Given the description of an element on the screen output the (x, y) to click on. 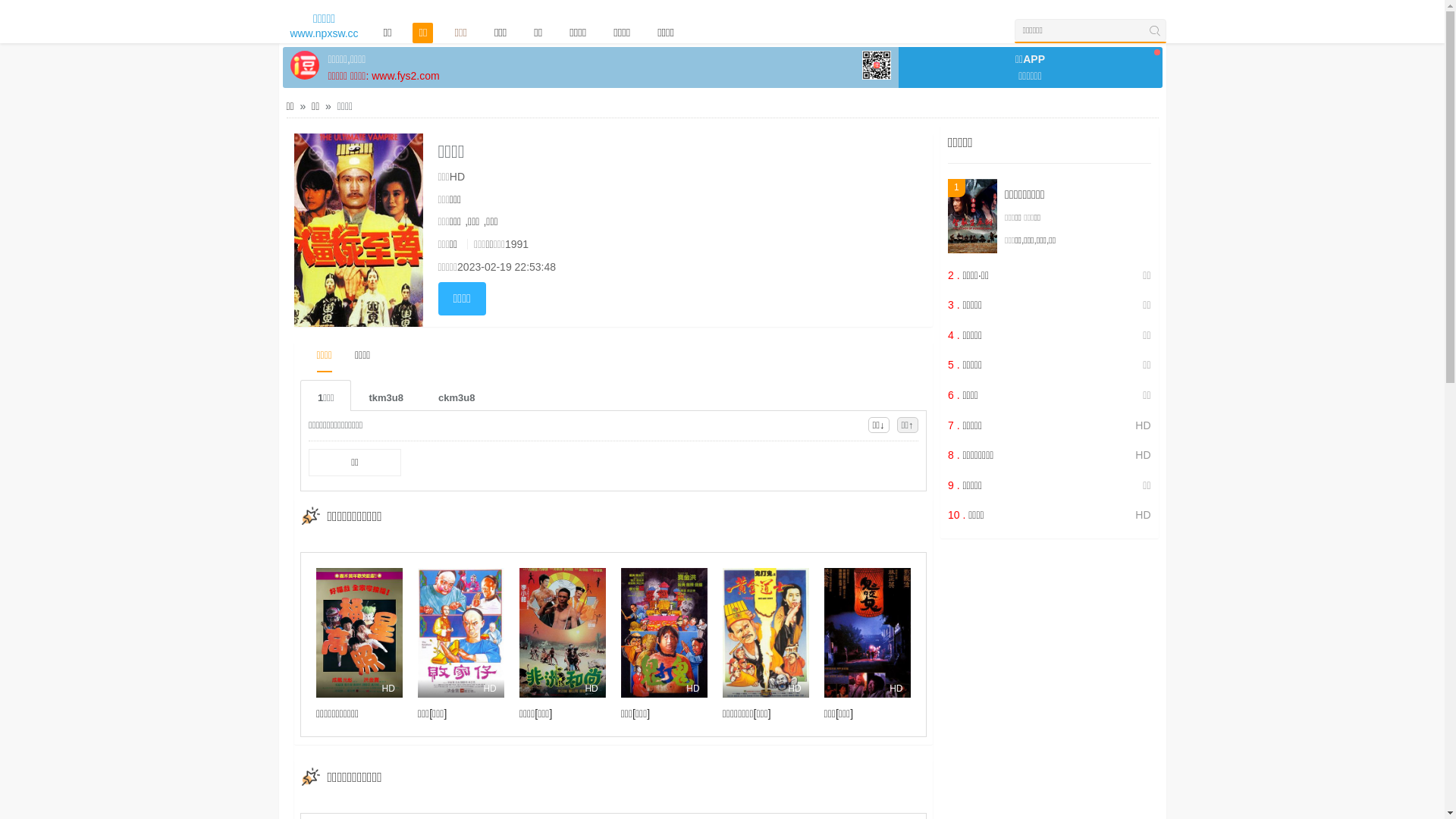
HD Element type: text (562, 632)
1 Element type: text (972, 215)
HD Element type: text (460, 632)
HD Element type: text (359, 632)
HD Element type: text (664, 632)
HD Element type: text (867, 632)
tkm3u8 Element type: text (385, 395)
HD Element type: text (765, 632)
ckm3u8 Element type: text (456, 395)
